Given the description of an element on the screen output the (x, y) to click on. 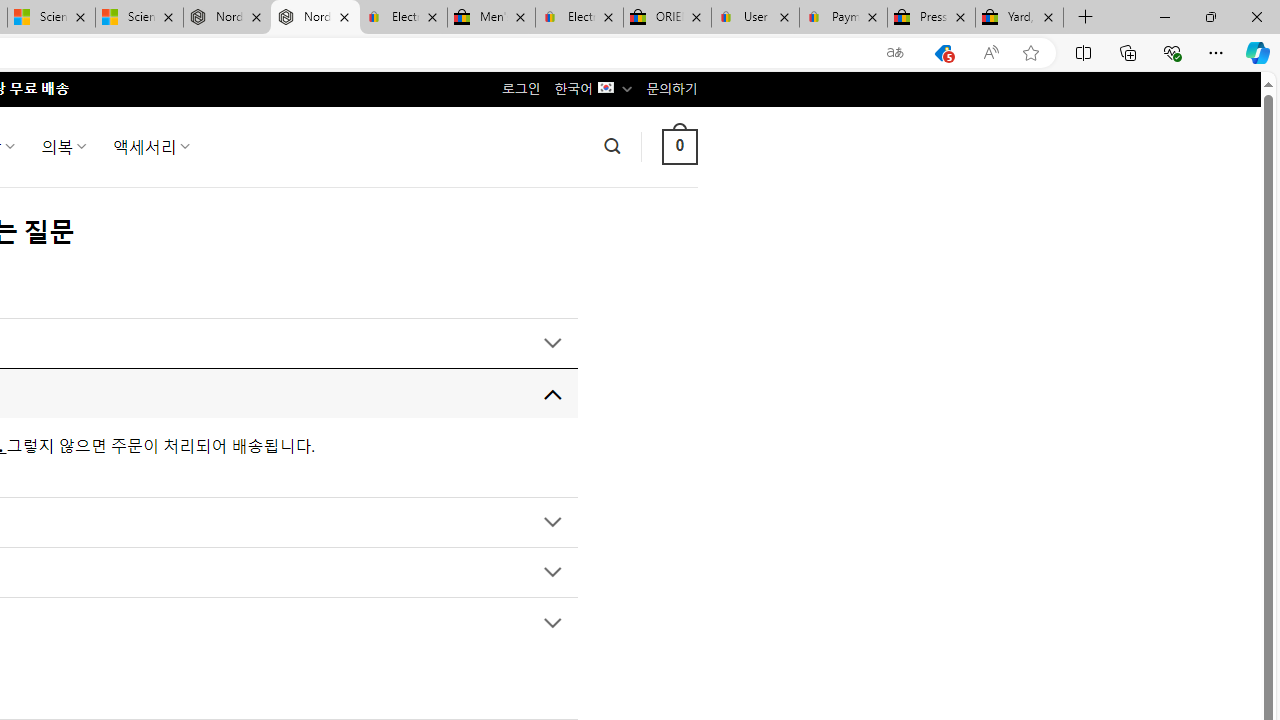
This site has coupons! Shopping in Microsoft Edge, 5 (943, 53)
User Privacy Notice | eBay (754, 17)
  0   (679, 146)
